Given the description of an element on the screen output the (x, y) to click on. 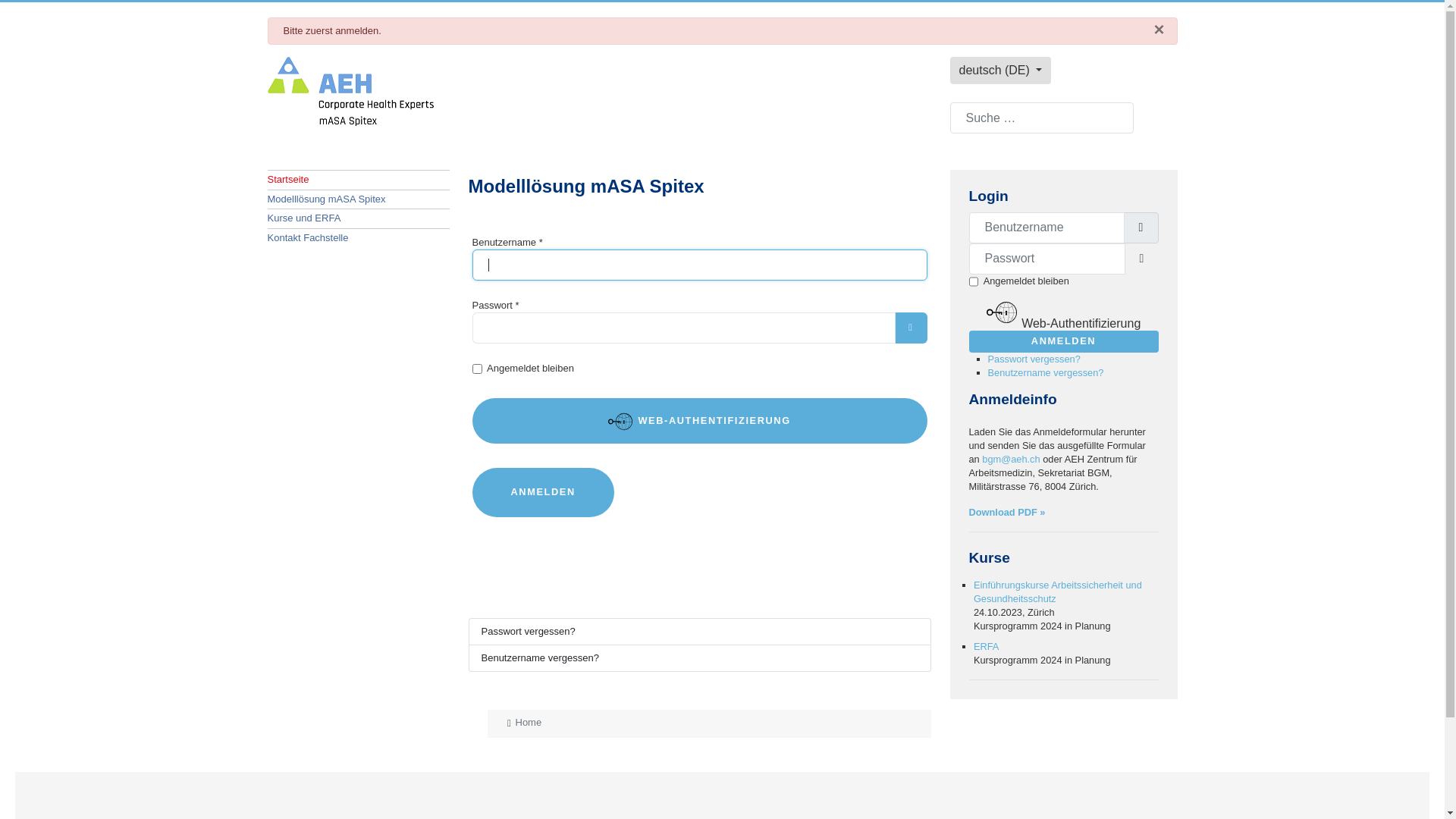
Passwort anzeigen Element type: text (1141, 258)
Startseite Element type: text (357, 179)
ERFA Element type: text (985, 646)
Kontakt Fachstelle Element type: text (357, 237)
Kurse und ERFA Element type: text (357, 218)
WEB-AUTHENTIFIZIERUNG Element type: text (698, 420)
Benutzername vergessen? Element type: text (699, 657)
Web-Authentifizierung Element type: text (1063, 312)
Benutzername Element type: hover (1140, 227)
Passwort vergessen? Element type: text (699, 630)
PASSWORT ANZEIGEN Element type: text (910, 327)
ANMELDEN Element type: text (542, 492)
Passwort vergessen? Element type: text (1033, 358)
bgm@aeh.ch Element type: text (1010, 458)
deutsch (DE) Element type: text (1000, 70)
ANMELDEN Element type: text (1063, 341)
Benutzername vergessen? Element type: text (1045, 372)
